Given the description of an element on the screen output the (x, y) to click on. 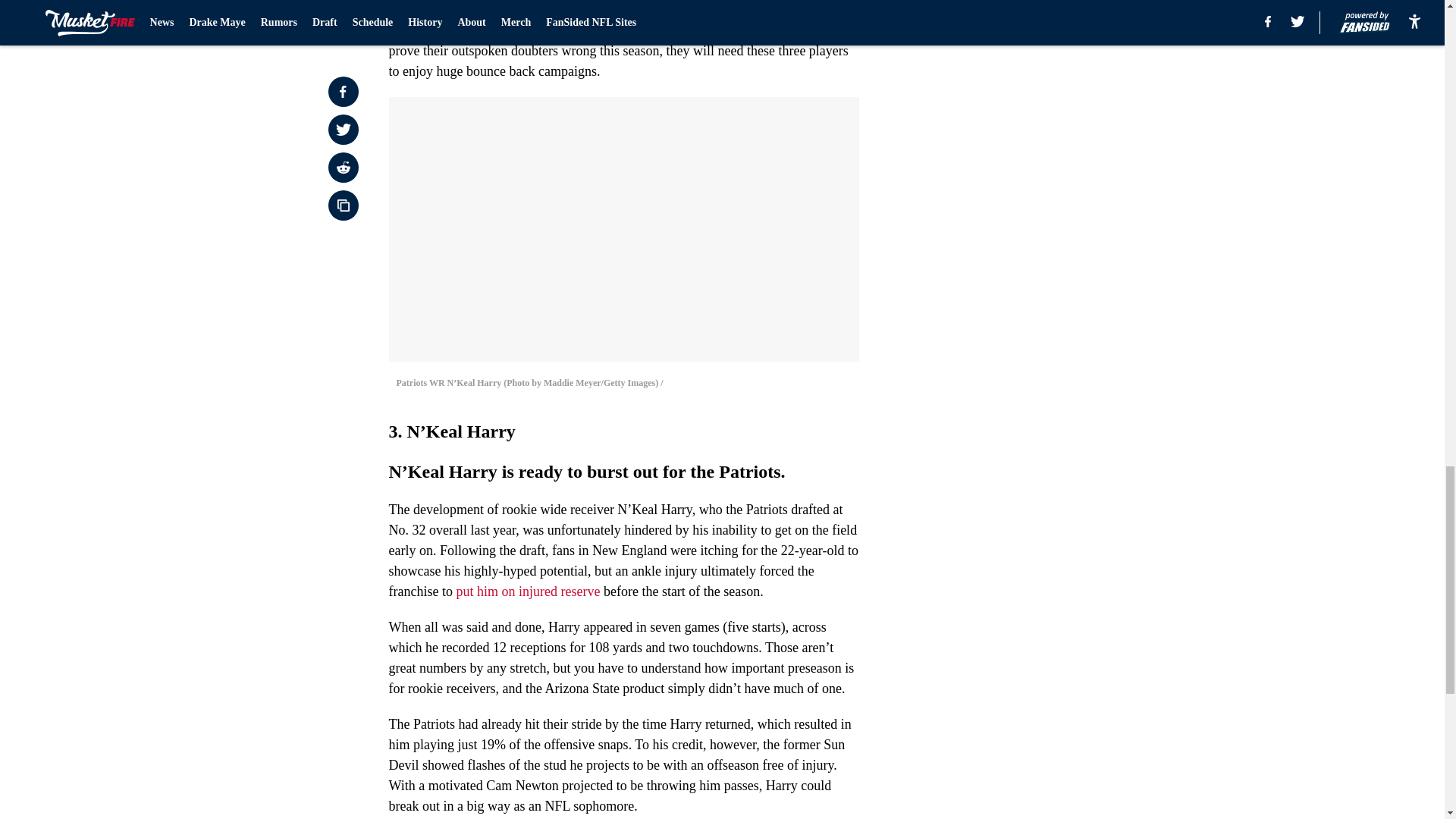
the legendary head coach (514, 29)
put him on injured reserve (527, 590)
